Given the description of an element on the screen output the (x, y) to click on. 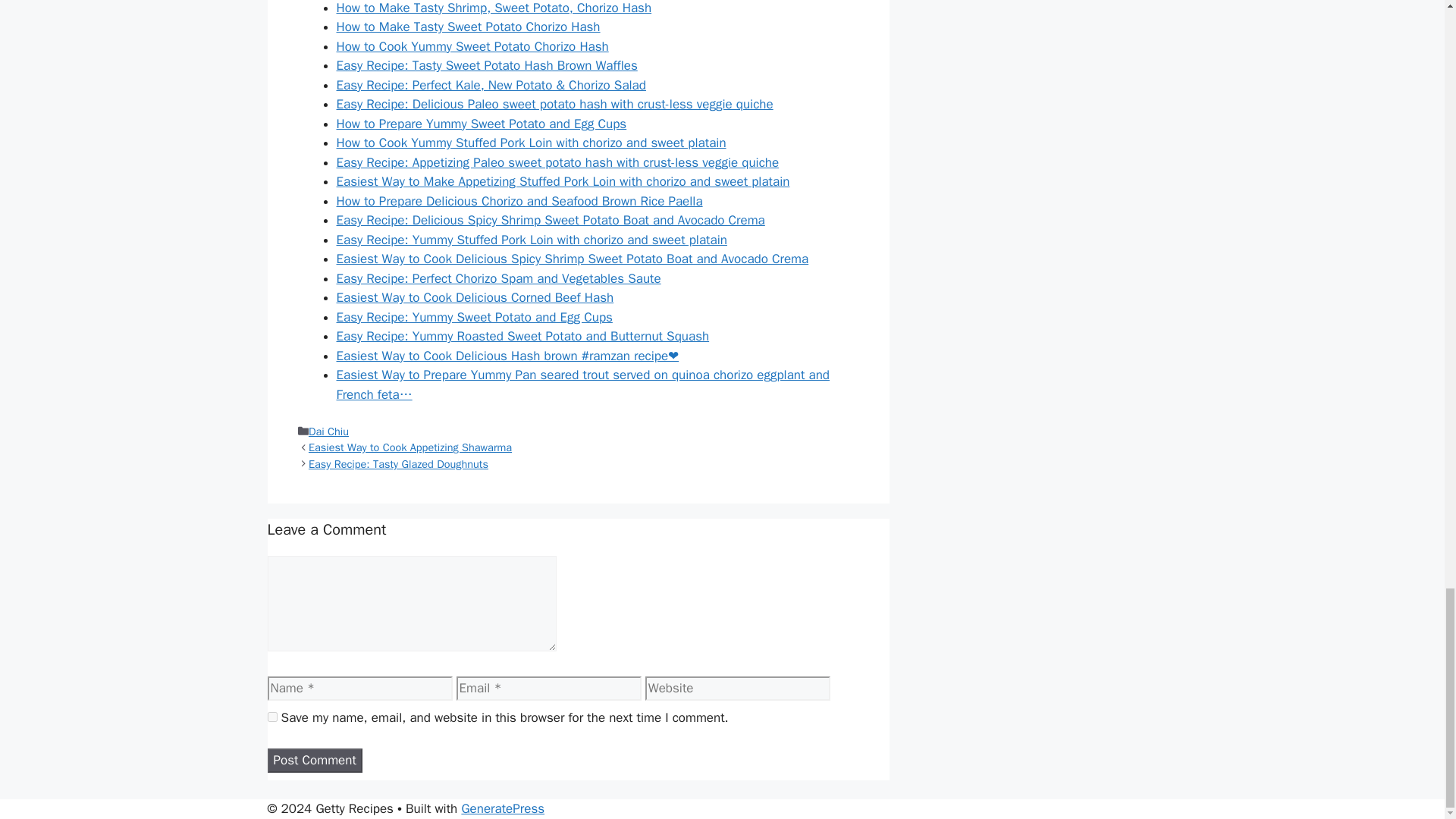
Easiest Way to Cook Delicious Corned Beef Hash (475, 297)
yes (271, 716)
Dai Chiu (328, 431)
Easy Recipe: Perfect Chorizo Spam and Vegetables Saute (498, 278)
Easy Recipe: Tasty Glazed Doughnuts (397, 463)
How to Make Tasty Sweet Potato Chorizo Hash (467, 26)
How to Prepare Yummy Sweet Potato and Egg Cups (481, 123)
